Given the description of an element on the screen output the (x, y) to click on. 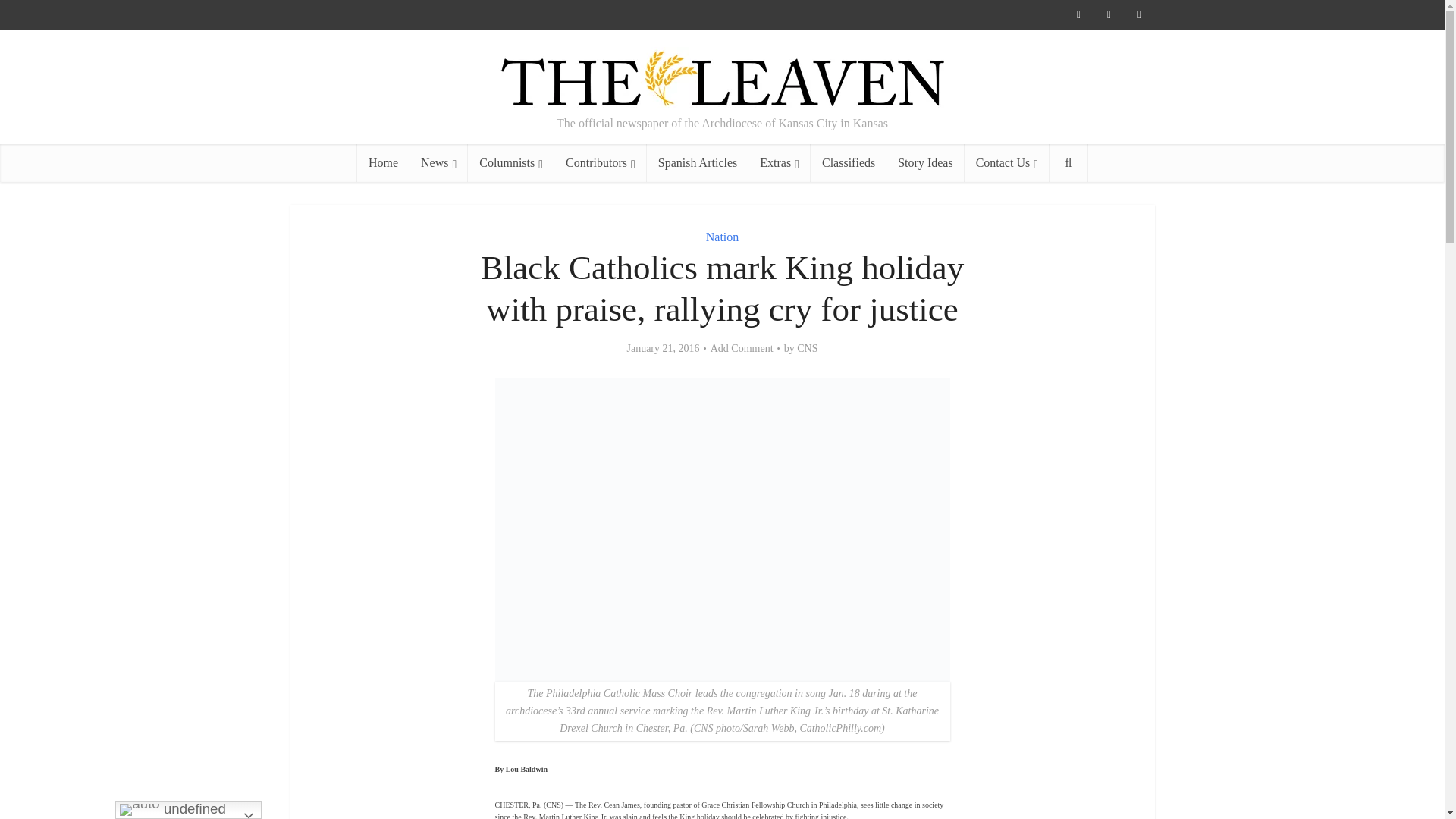
News (438, 162)
Columnists (510, 162)
None (438, 162)
Contributors (600, 162)
Extras (779, 162)
Home (382, 162)
Classifieds (848, 162)
Spanish Articles (697, 162)
